Given the description of an element on the screen output the (x, y) to click on. 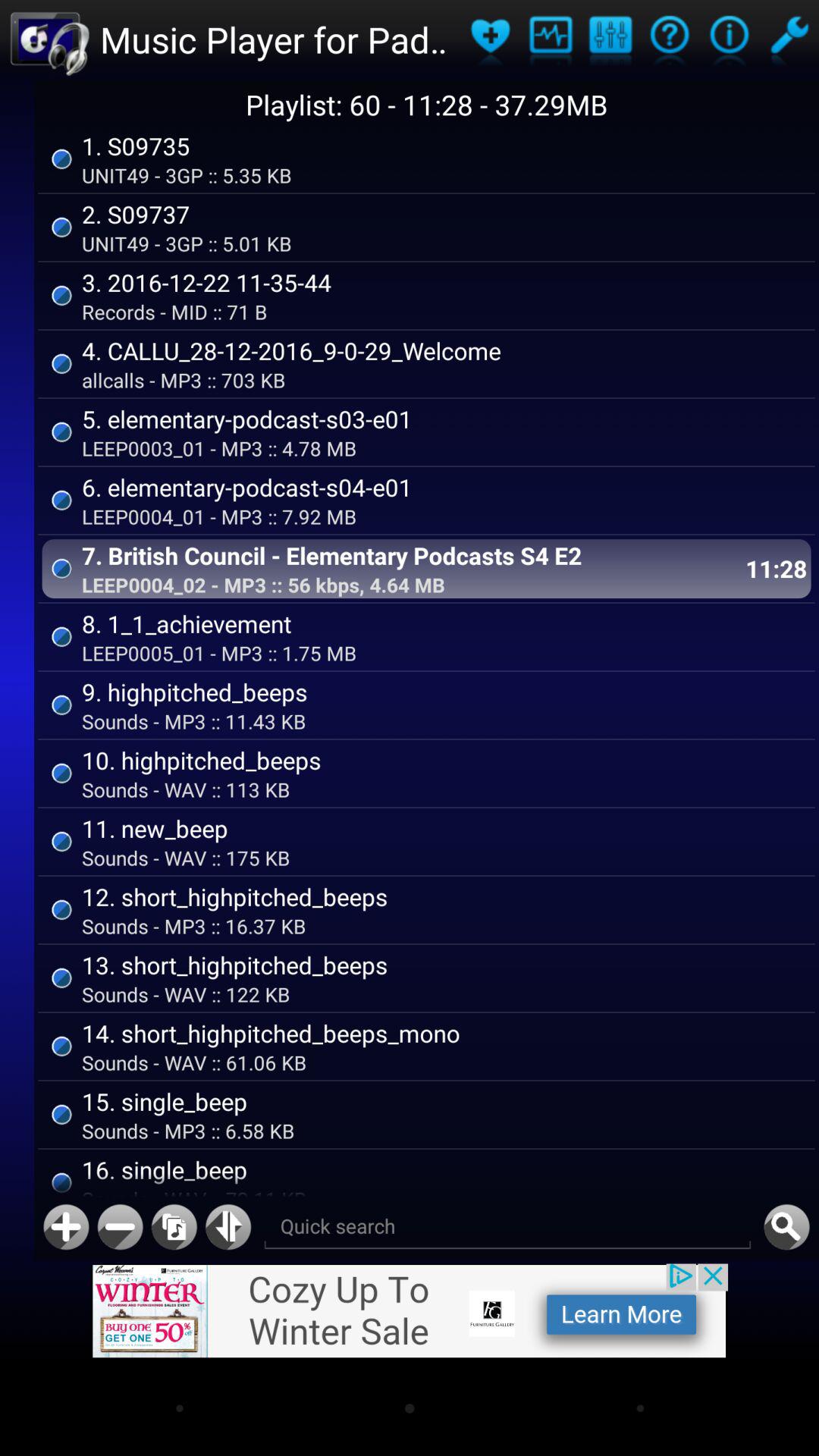
input search (507, 1226)
